Given the description of an element on the screen output the (x, y) to click on. 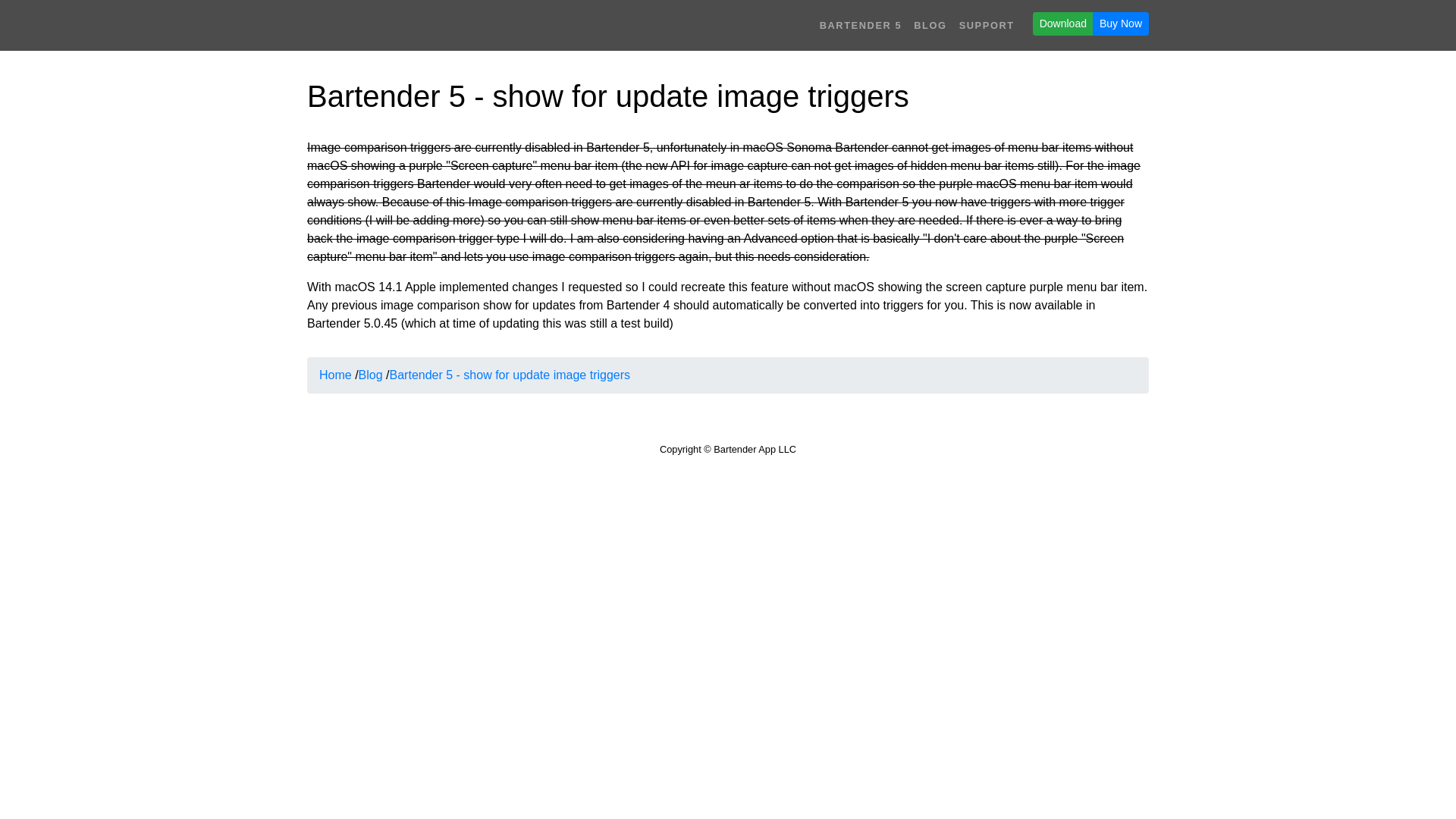
Home (335, 374)
Download (1062, 24)
Bartender 5 - show for update image triggers (510, 374)
SUPPORT (986, 25)
BLOG (929, 25)
Buy Now (1120, 24)
BARTENDER 5 (860, 25)
Blog (370, 374)
